Given the description of an element on the screen output the (x, y) to click on. 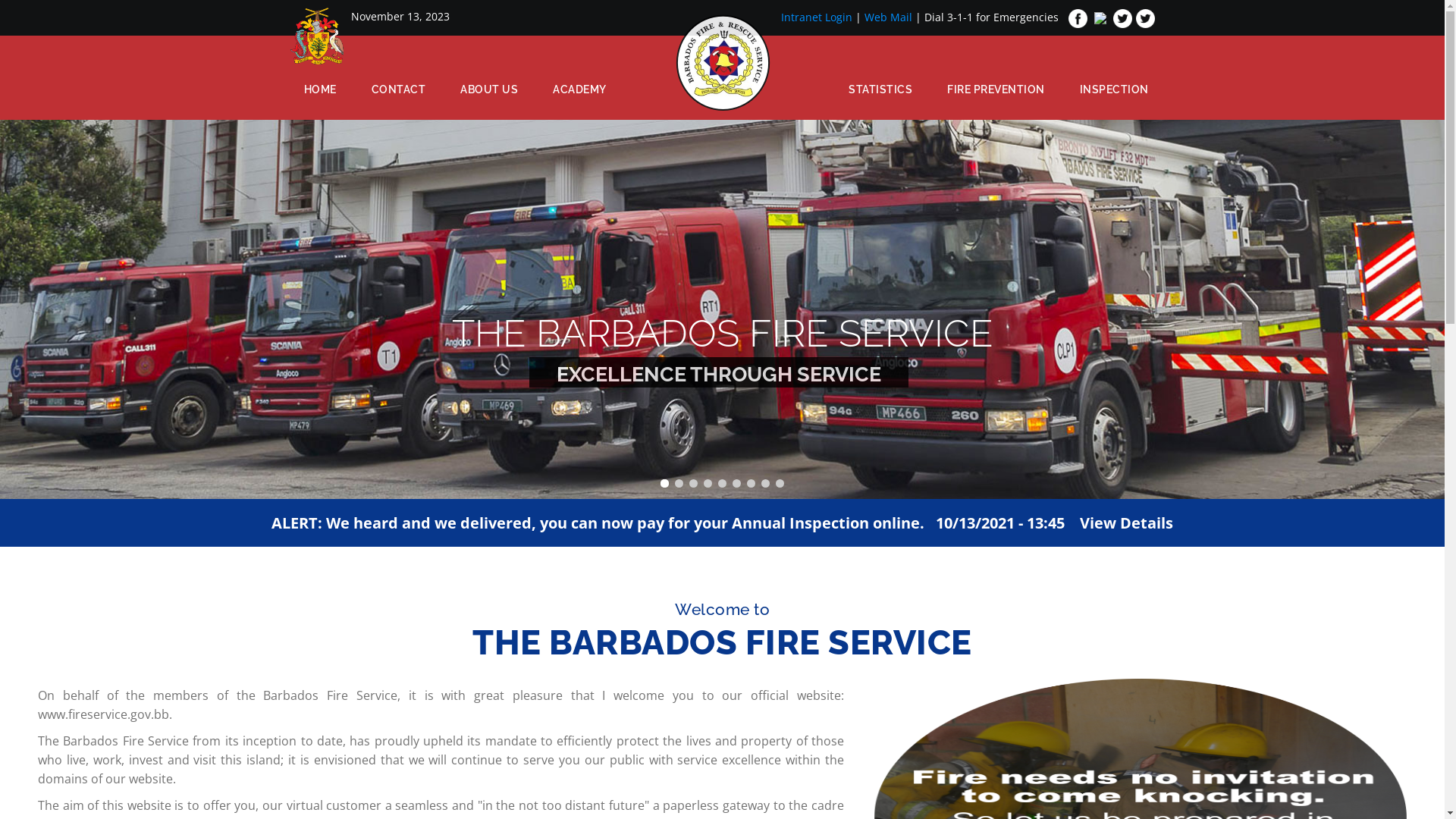
INSPECTION Element type: text (1113, 89)
HOME Element type: text (320, 89)
CONTACT Element type: text (397, 89)
ACADEMY Element type: text (579, 89)
ABOUT US Element type: text (488, 89)
Barbados Fire Service Element type: hover (722, 64)
View Details Element type: text (1126, 522)
Skip to main content Element type: text (0, 0)
FIRE PREVENTION Element type: text (995, 89)
STATISTICS Element type: text (880, 89)
Intranet Login Element type: text (816, 16)
Web Mail Element type: text (888, 16)
